Given the description of an element on the screen output the (x, y) to click on. 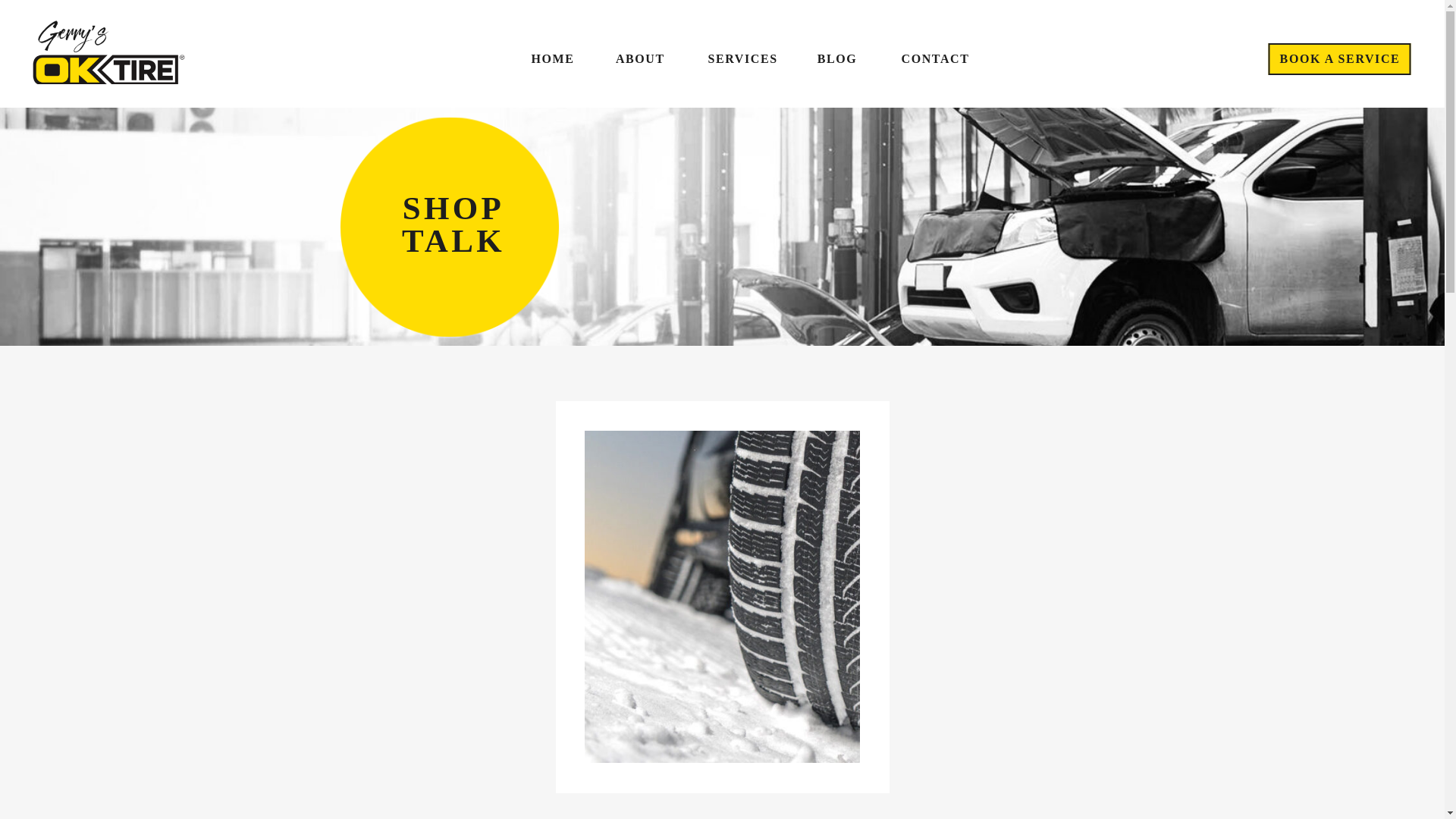
HOME (547, 59)
BLOG (836, 59)
BOOK A SERVICE (1340, 59)
SERVICES (740, 59)
CONTACT (925, 59)
ABOUT  (642, 59)
